Given the description of an element on the screen output the (x, y) to click on. 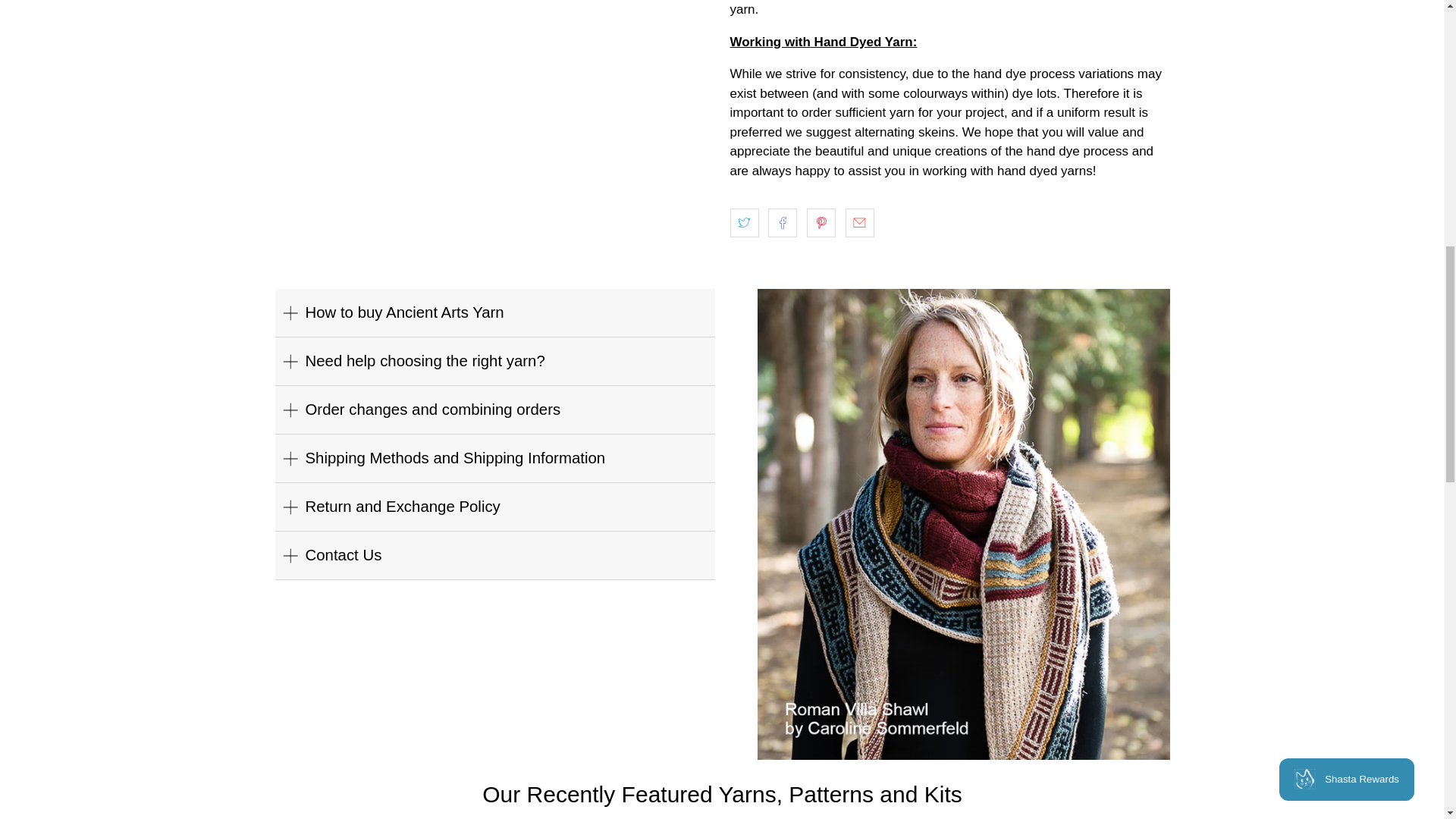
Share this on Twitter (743, 222)
Email this to a friend (860, 222)
Share this on Facebook (782, 222)
Share this on Pinterest (820, 222)
